Given the description of an element on the screen output the (x, y) to click on. 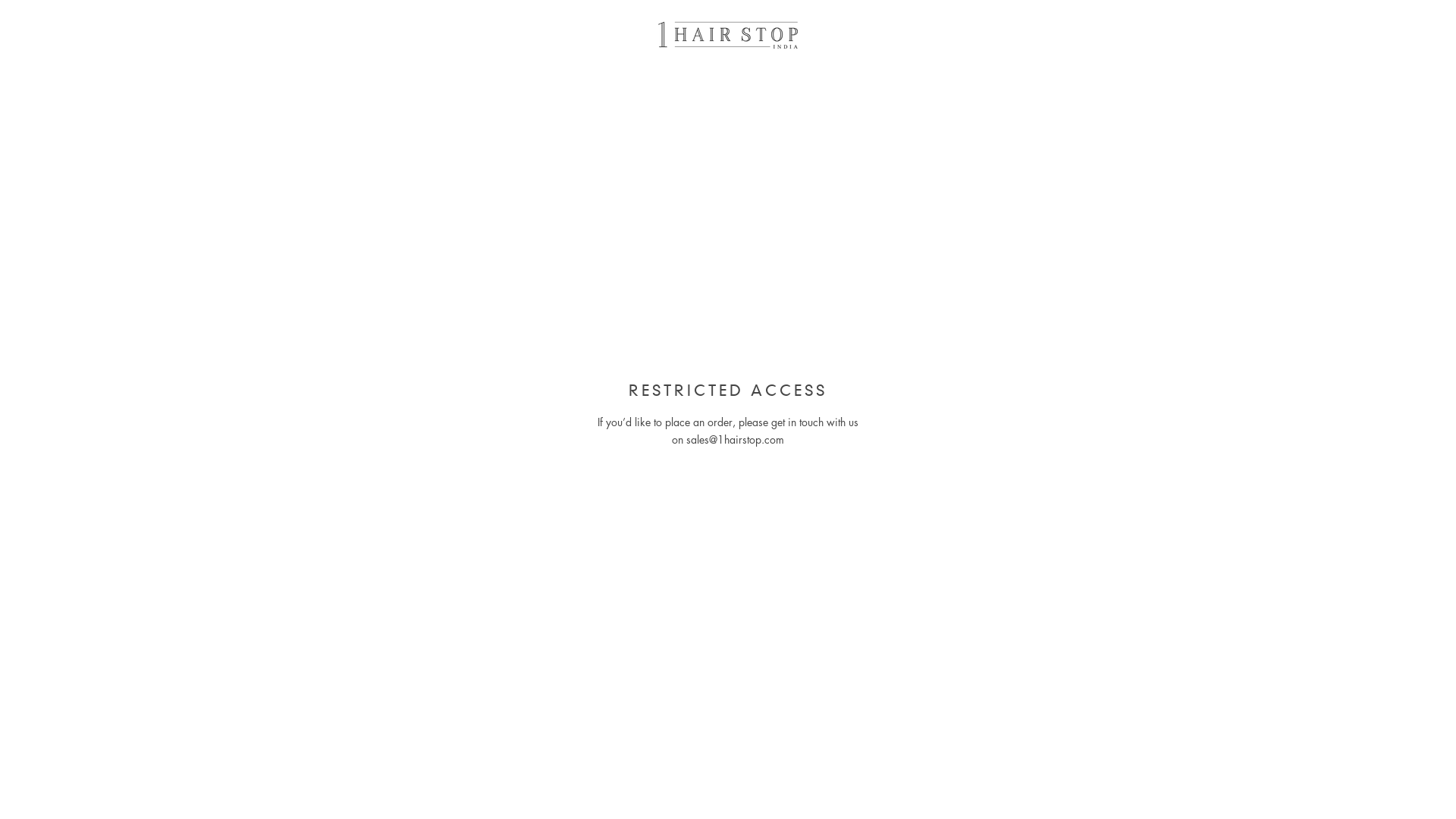
LOGIN HERE Element type: text (1401, 792)
ENTER PASSWORD Element type: text (1370, 34)
Create your own online store with Shopify Element type: hover (249, 792)
